Given the description of an element on the screen output the (x, y) to click on. 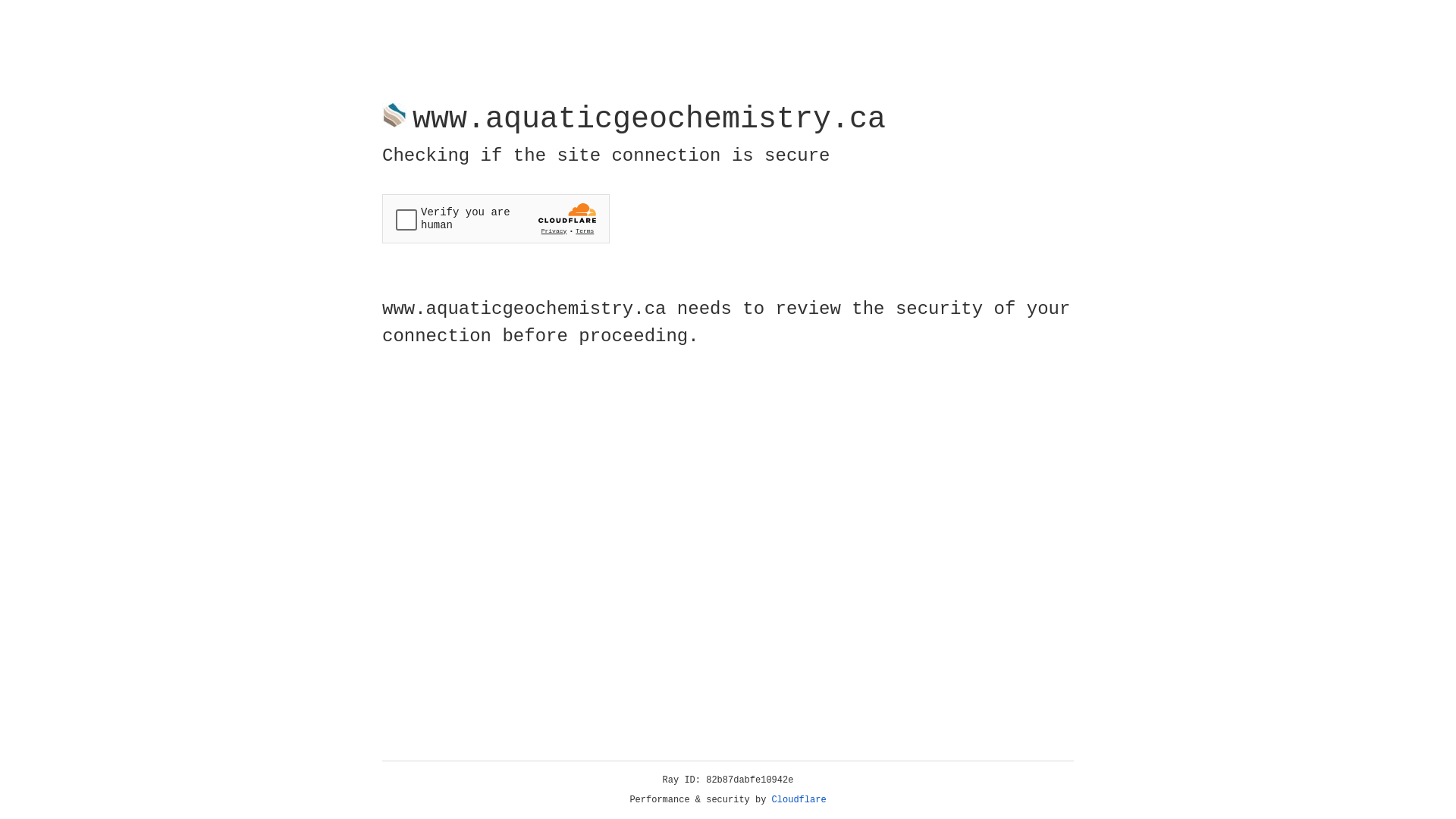
Cloudflare Element type: text (798, 799)
Widget containing a Cloudflare security challenge Element type: hover (495, 218)
